Given the description of an element on the screen output the (x, y) to click on. 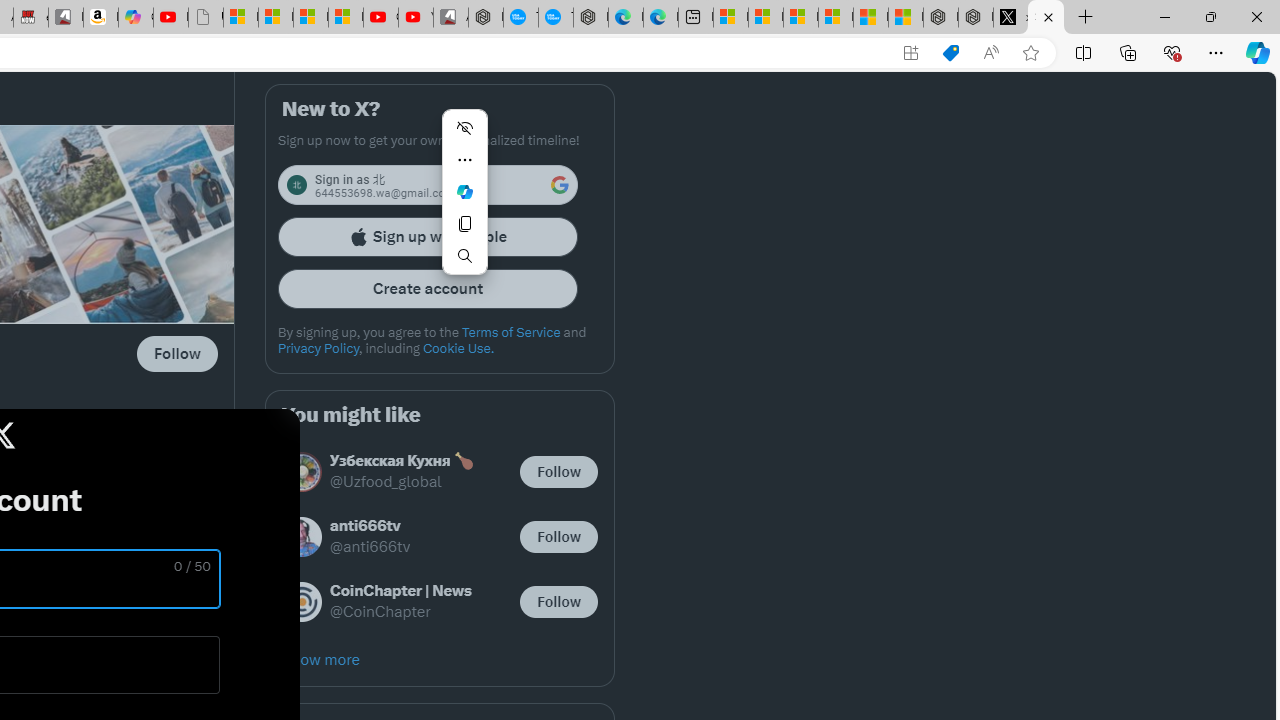
Untitled (205, 17)
Mini menu on text selection (464, 203)
Mini menu on text selection (464, 192)
x.com/NordaceOfficial (1010, 17)
Shopping in Microsoft Edge (950, 53)
Nordace - My Account (485, 17)
